Given the description of an element on the screen output the (x, y) to click on. 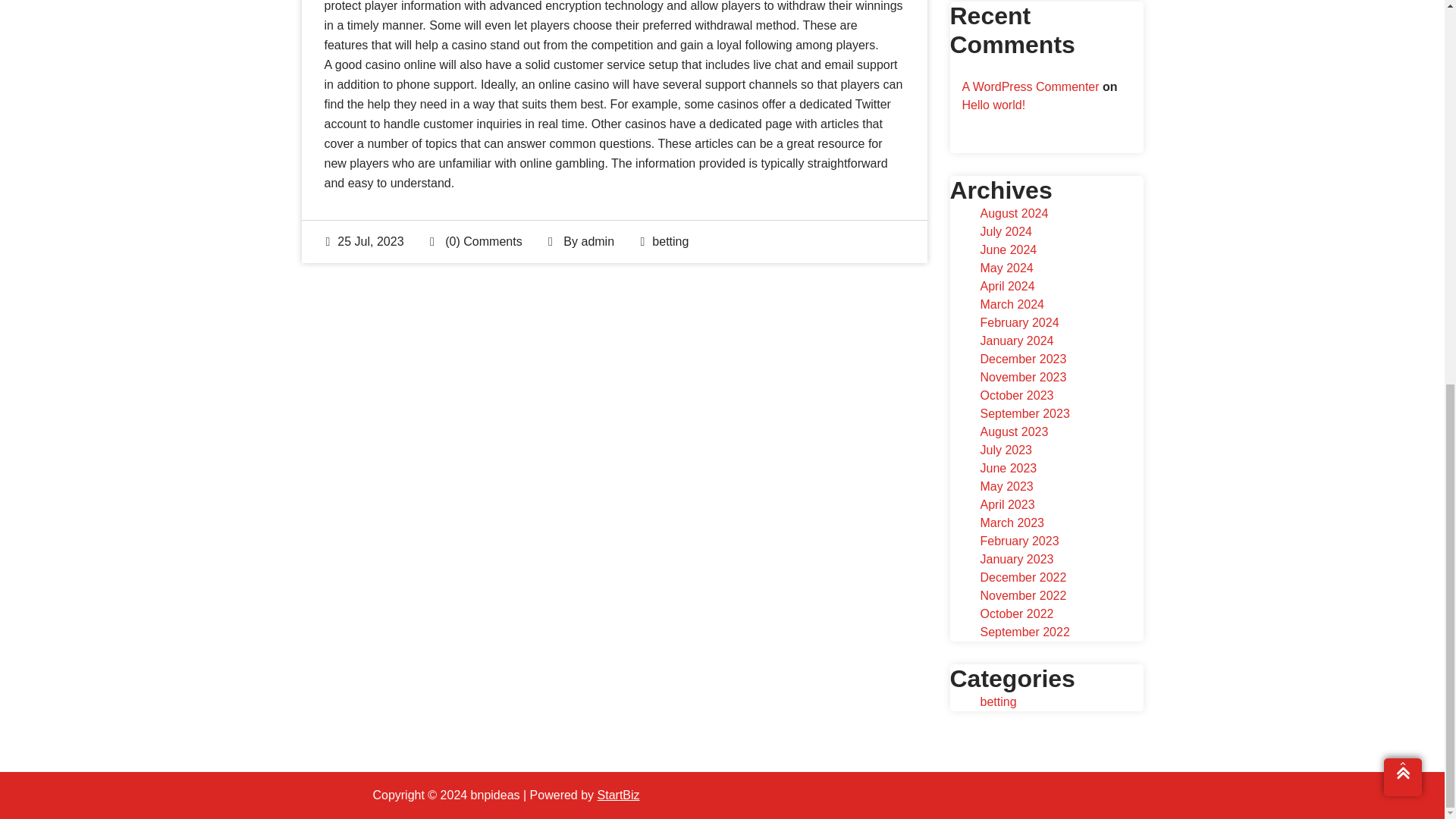
July 2024 (1005, 231)
March 2024 (1011, 304)
Hello world! (992, 104)
April 2024 (1006, 286)
admin (597, 241)
June 2024 (1007, 249)
August 2024 (1013, 213)
May 2024 (1005, 267)
betting (670, 241)
A WordPress Commenter (1029, 86)
